Given the description of an element on the screen output the (x, y) to click on. 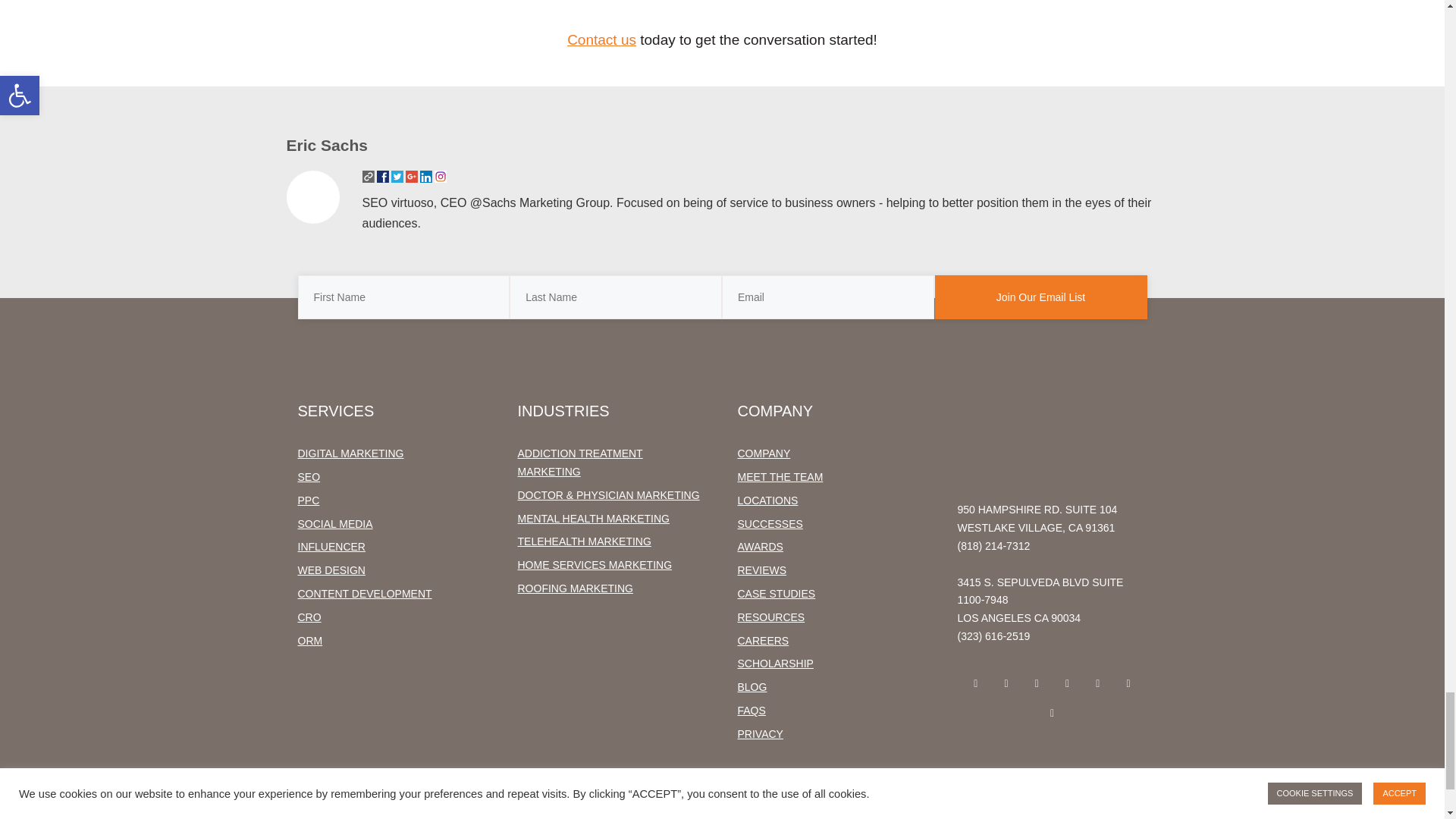
Join Our Email List (1040, 297)
